Given the description of an element on the screen output the (x, y) to click on. 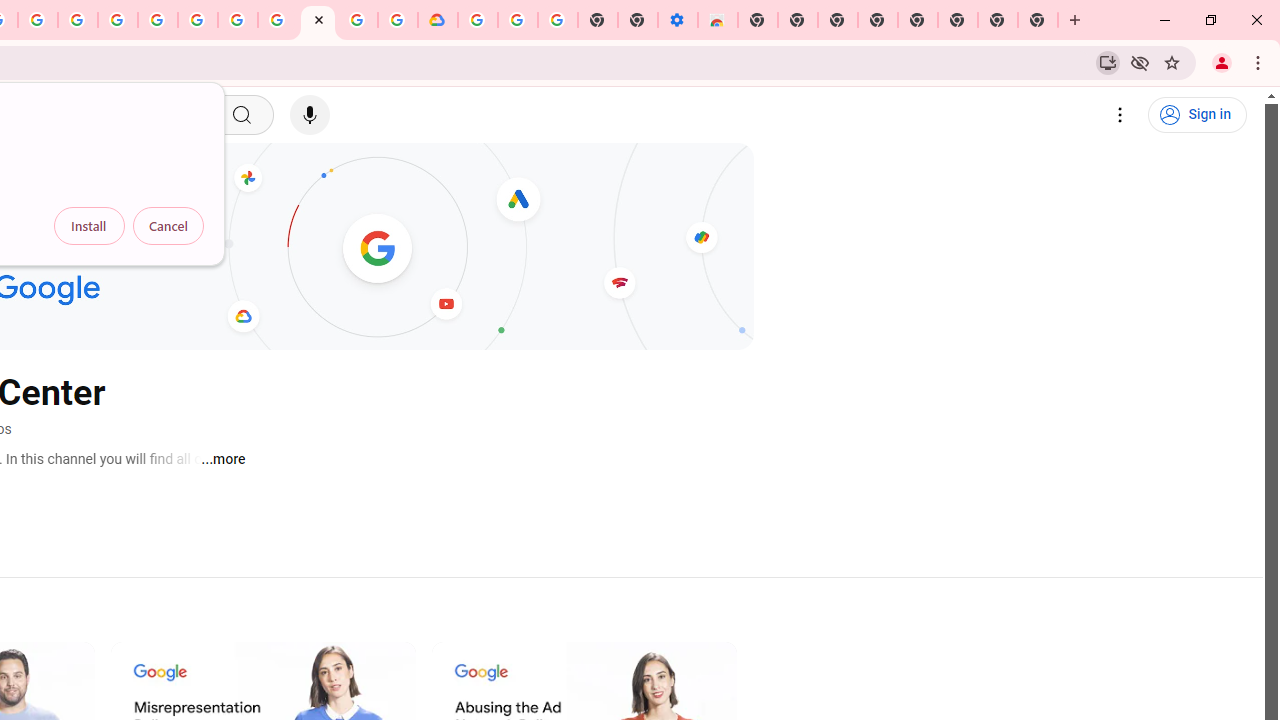
New Tab (758, 20)
Android TV Policies and Guidelines - Transparency Center (278, 20)
Install (89, 225)
Turn cookies on or off - Computer - Google Account Help (557, 20)
Cancel (168, 225)
Settings - Accessibility (677, 20)
Google Account Help (517, 20)
Google Transparency Center - YouTube (317, 20)
